Given the description of an element on the screen output the (x, y) to click on. 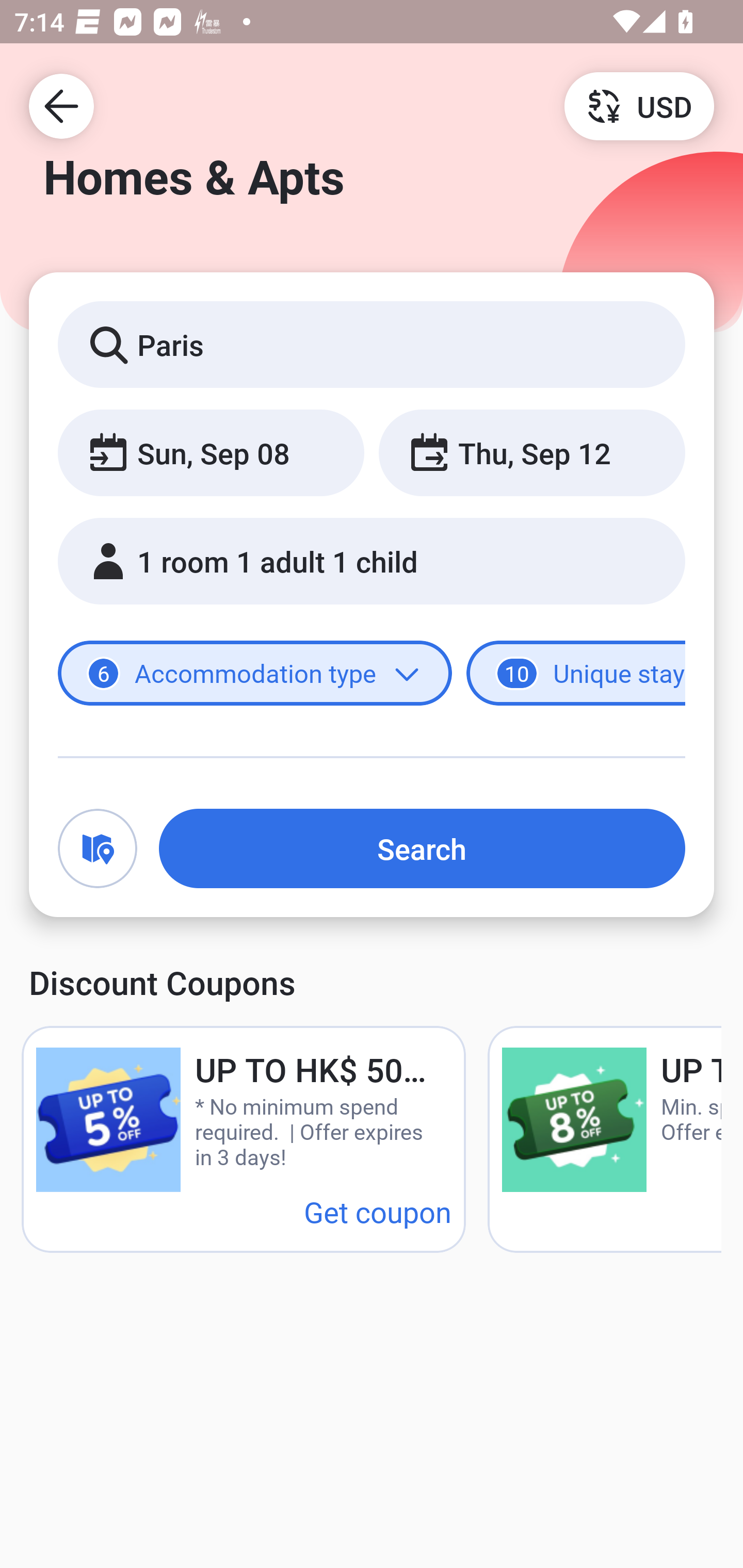
USD (639, 105)
Paris (371, 344)
Sun, Sep 08 (210, 452)
Thu, Sep 12 (531, 452)
1 room 1 adult 1 child (371, 561)
6 Accommodation type (254, 673)
10 Unique stays (575, 673)
Search (422, 848)
Get coupon (377, 1211)
